Given the description of an element on the screen output the (x, y) to click on. 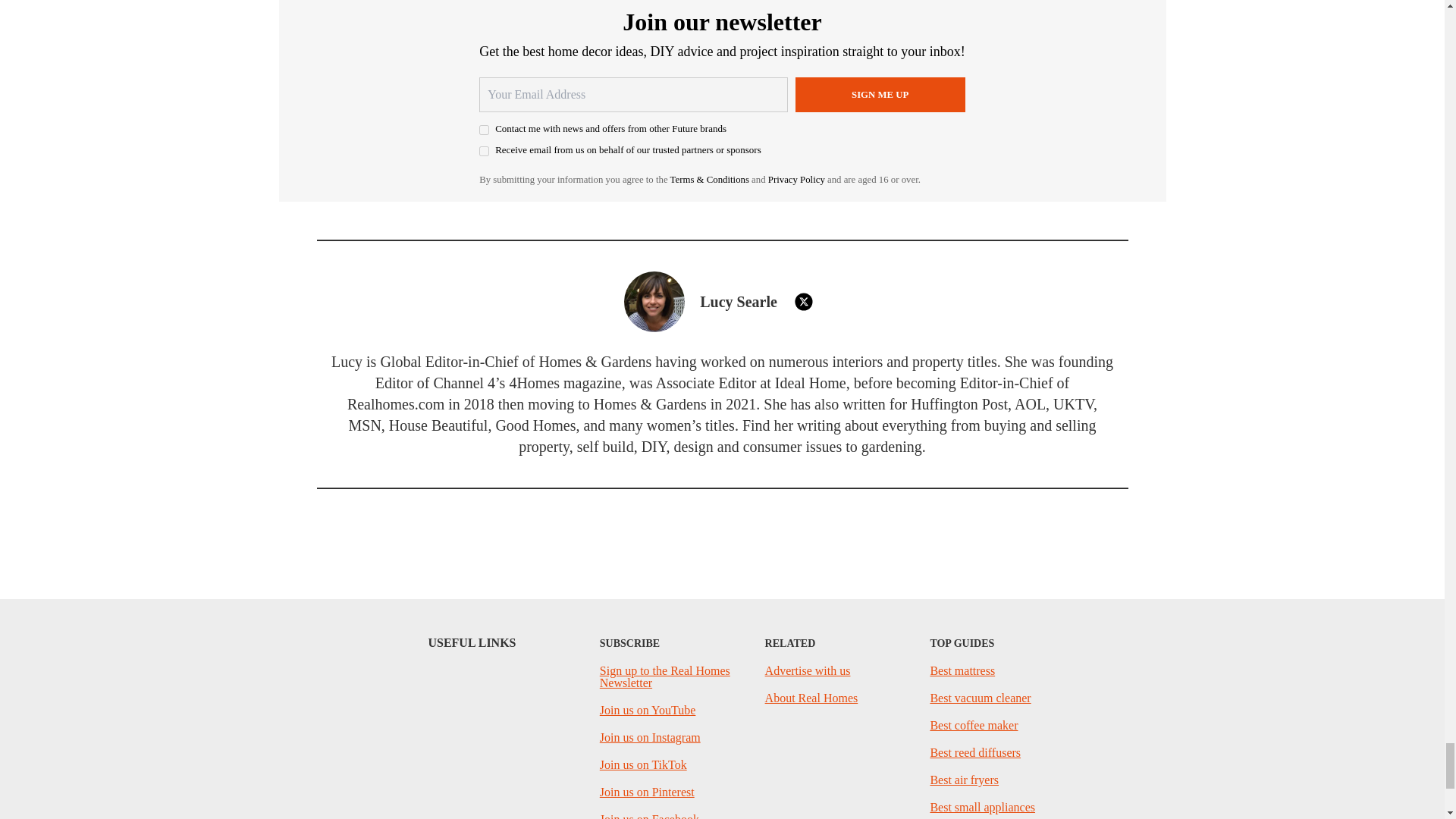
on (484, 130)
on (484, 151)
Sign me up (879, 94)
